Given the description of an element on the screen output the (x, y) to click on. 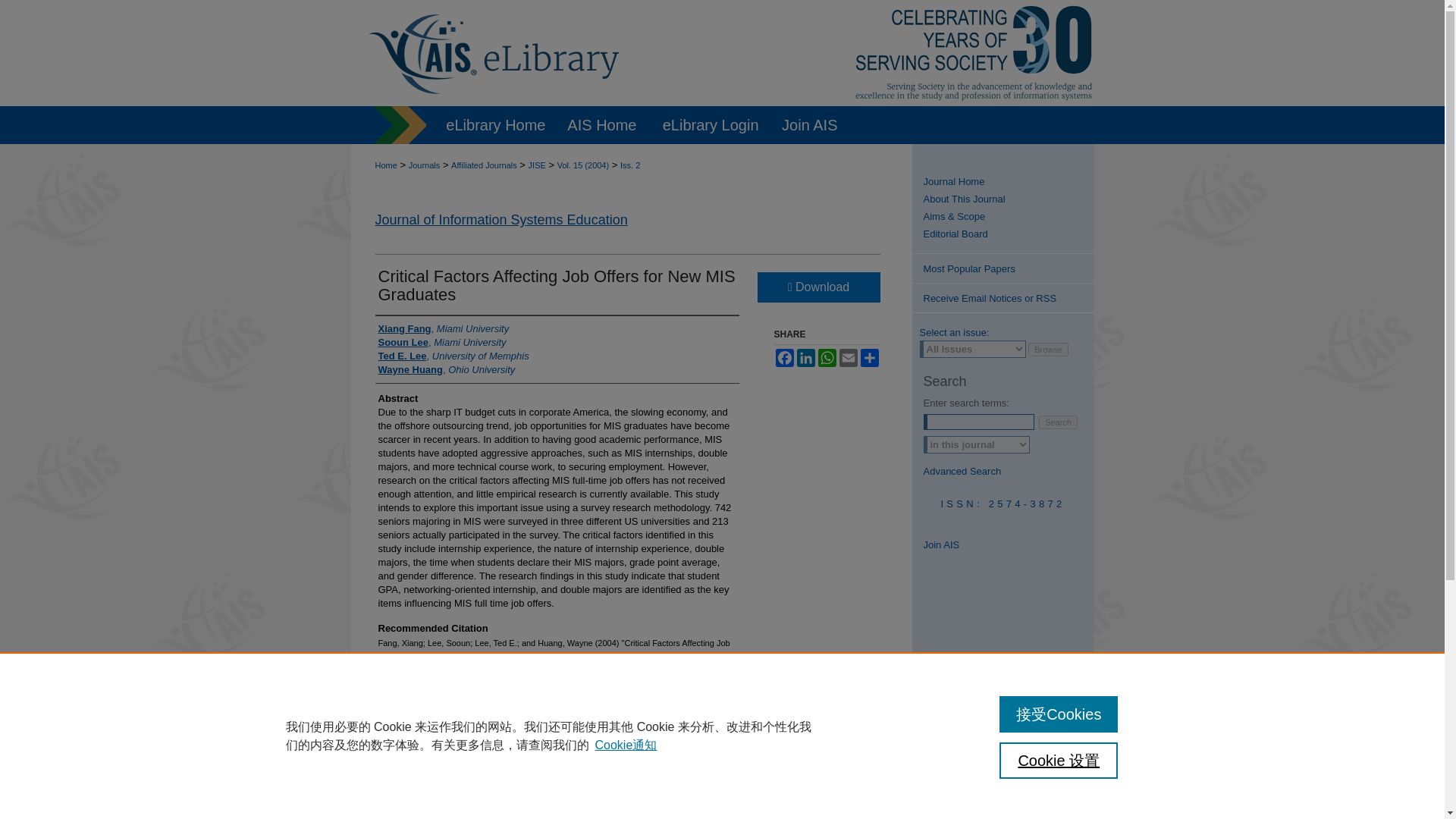
Receive notifications of new content (1002, 297)
Journal of Information Systems Education (500, 219)
Join AIS (809, 125)
eLibrary Home (495, 125)
WhatsApp (826, 357)
Facebook (783, 357)
Ted E. Lee, University of Memphis (452, 356)
Login (831, 771)
Download (818, 286)
Home (385, 164)
eLibrary Login (710, 125)
Search (1058, 422)
Iss. 2 (630, 164)
Journal of Information Systems Education (1008, 181)
Join AIS (809, 125)
